Given the description of an element on the screen output the (x, y) to click on. 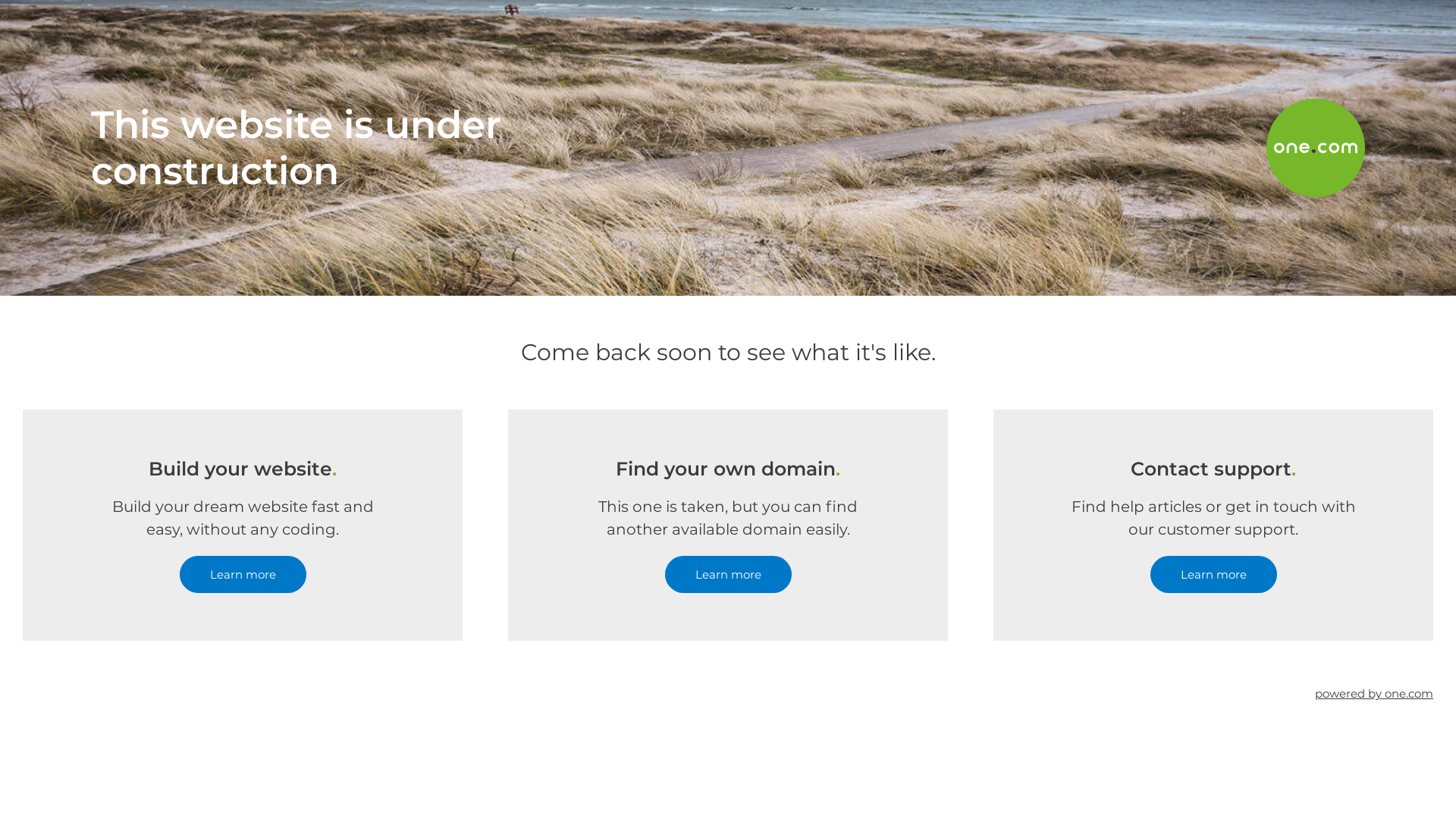
Learn more Element type: text (727, 574)
powered by one.com Element type: text (1373, 693)
Learn more Element type: text (241, 574)
Learn more Element type: text (1212, 574)
